Given the description of an element on the screen output the (x, y) to click on. 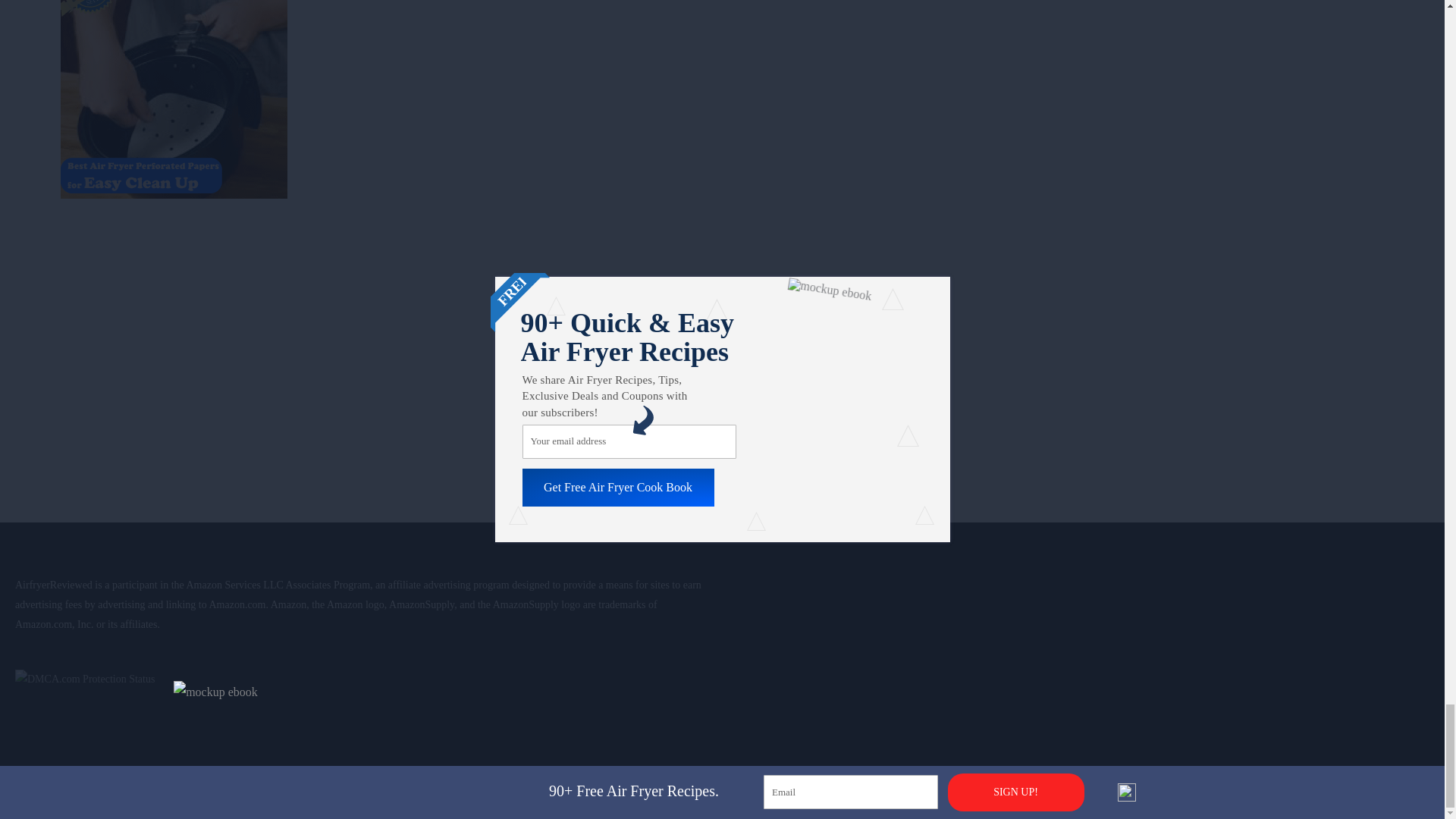
DMCA.com Protection Status (84, 677)
